Given the description of an element on the screen output the (x, y) to click on. 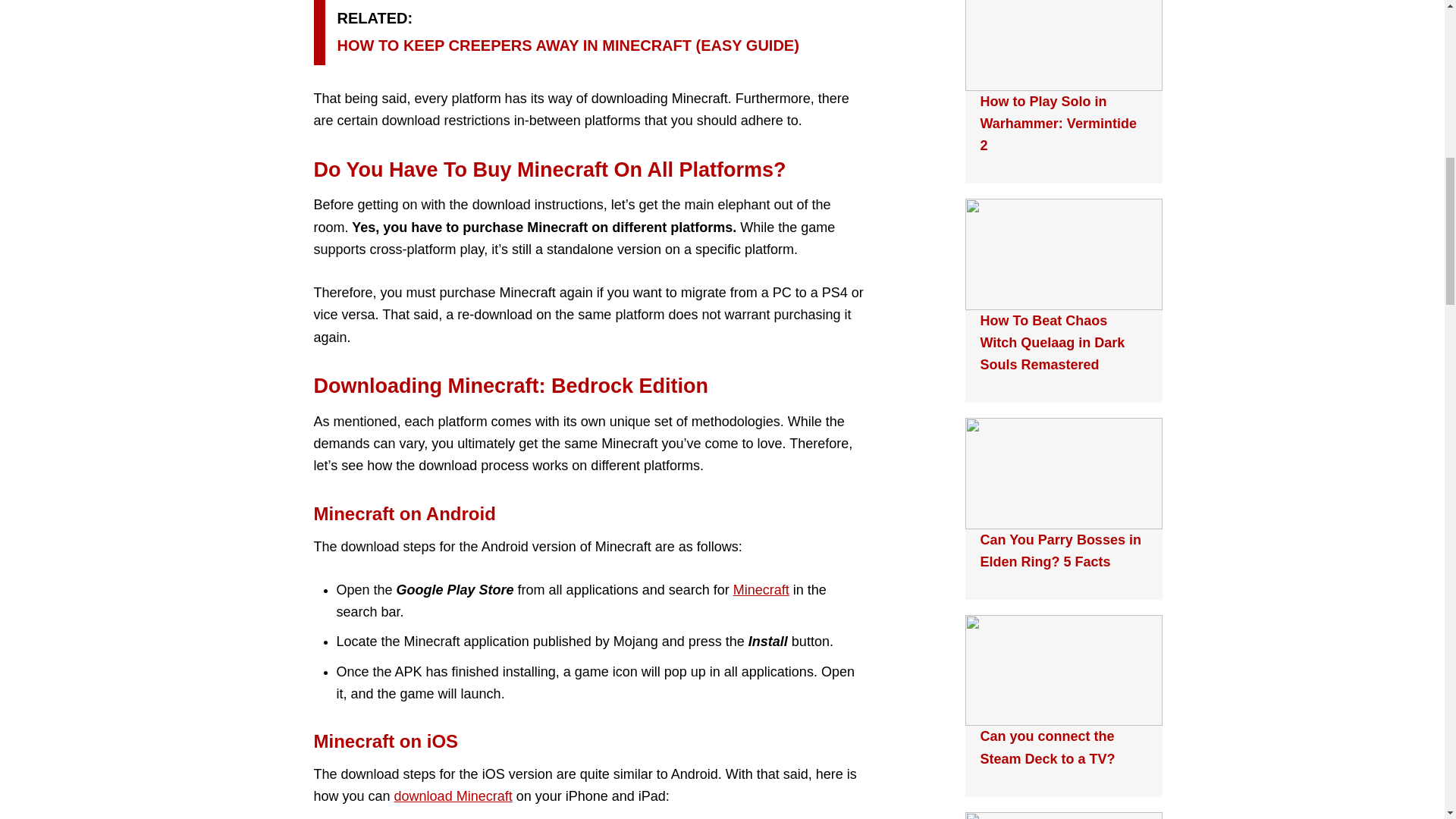
How to Play Solo in Warhammer: Vermintide 2 (1057, 123)
download Minecraft (453, 795)
Can You Parry Bosses in Elden Ring? 5 Facts (1059, 550)
Minecraft (761, 589)
How To Beat Chaos Witch Quelaag in Dark Souls Remastered (1051, 342)
